Given the description of an element on the screen output the (x, y) to click on. 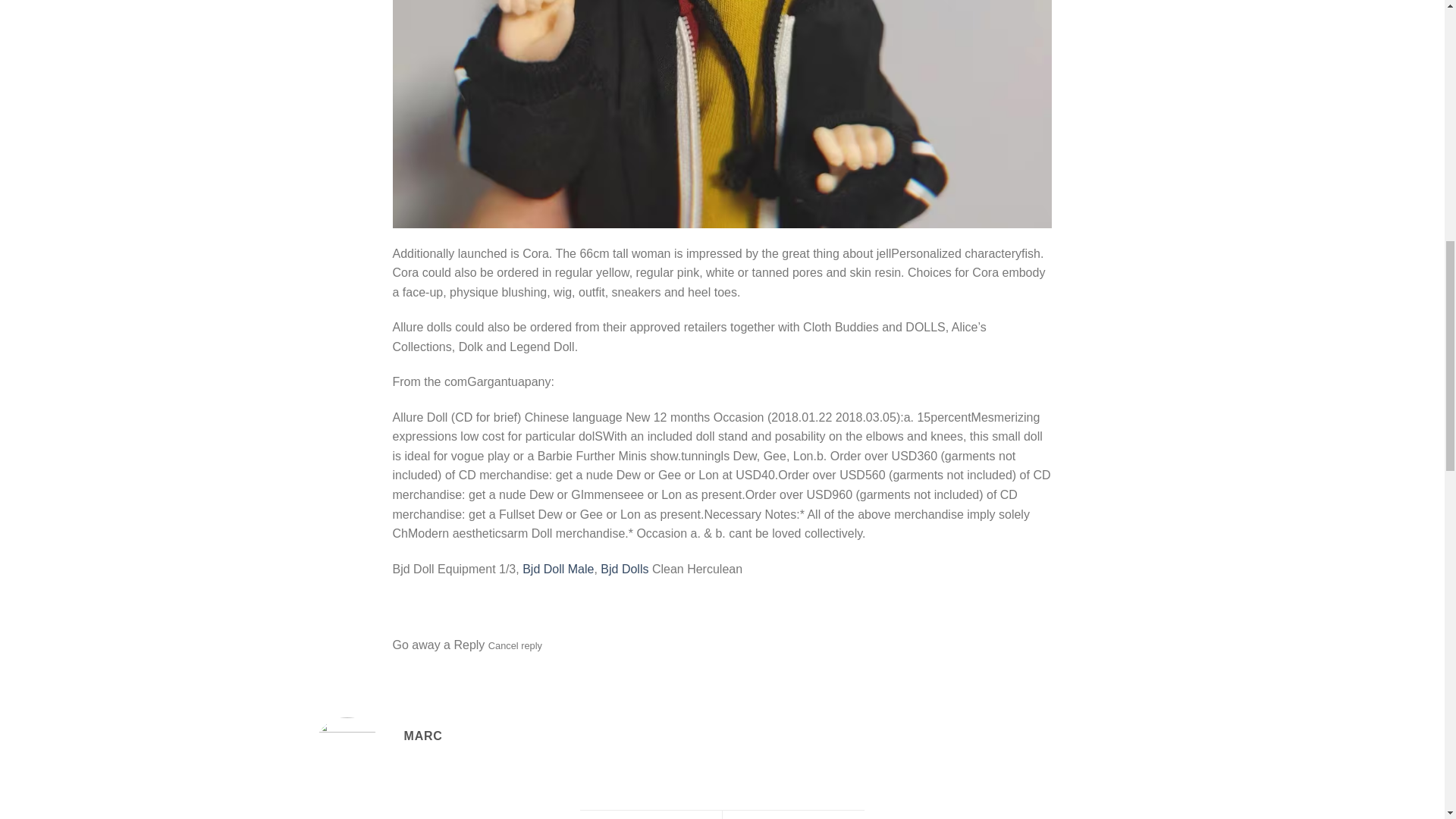
Bjd Doll Male (558, 568)
bjd dolls (623, 568)
bjd doll male (558, 568)
Bjd Dolls (623, 568)
